Given the description of an element on the screen output the (x, y) to click on. 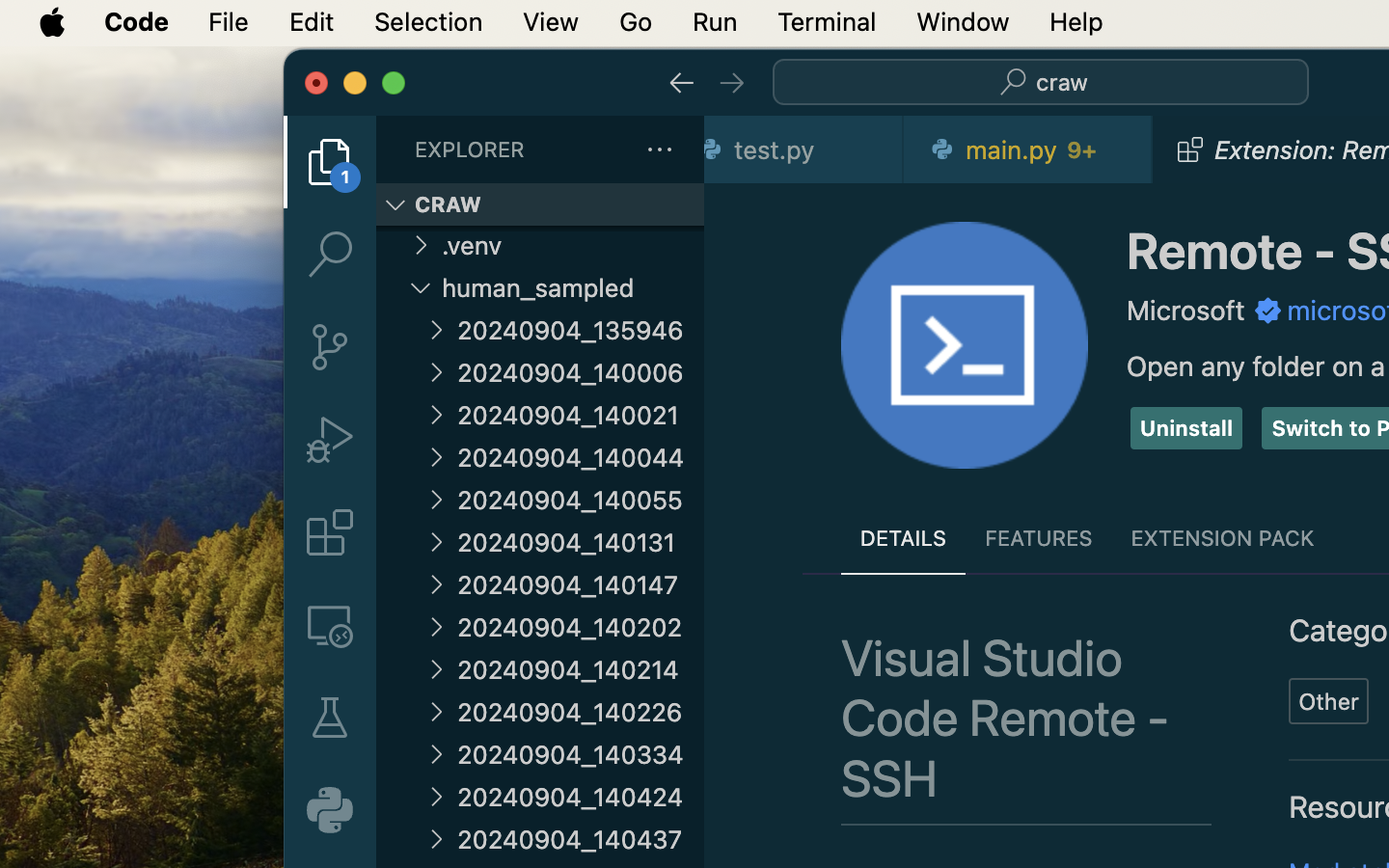
 Element type: AXButton (681, 82)
20240904_140424 Element type: AXGroup (580, 796)
20240904_140131 Element type: AXGroup (580, 541)
0  Element type: AXRadioButton (329, 254)
20240904_135946 Element type: AXGroup (580, 329)
